Given the description of an element on the screen output the (x, y) to click on. 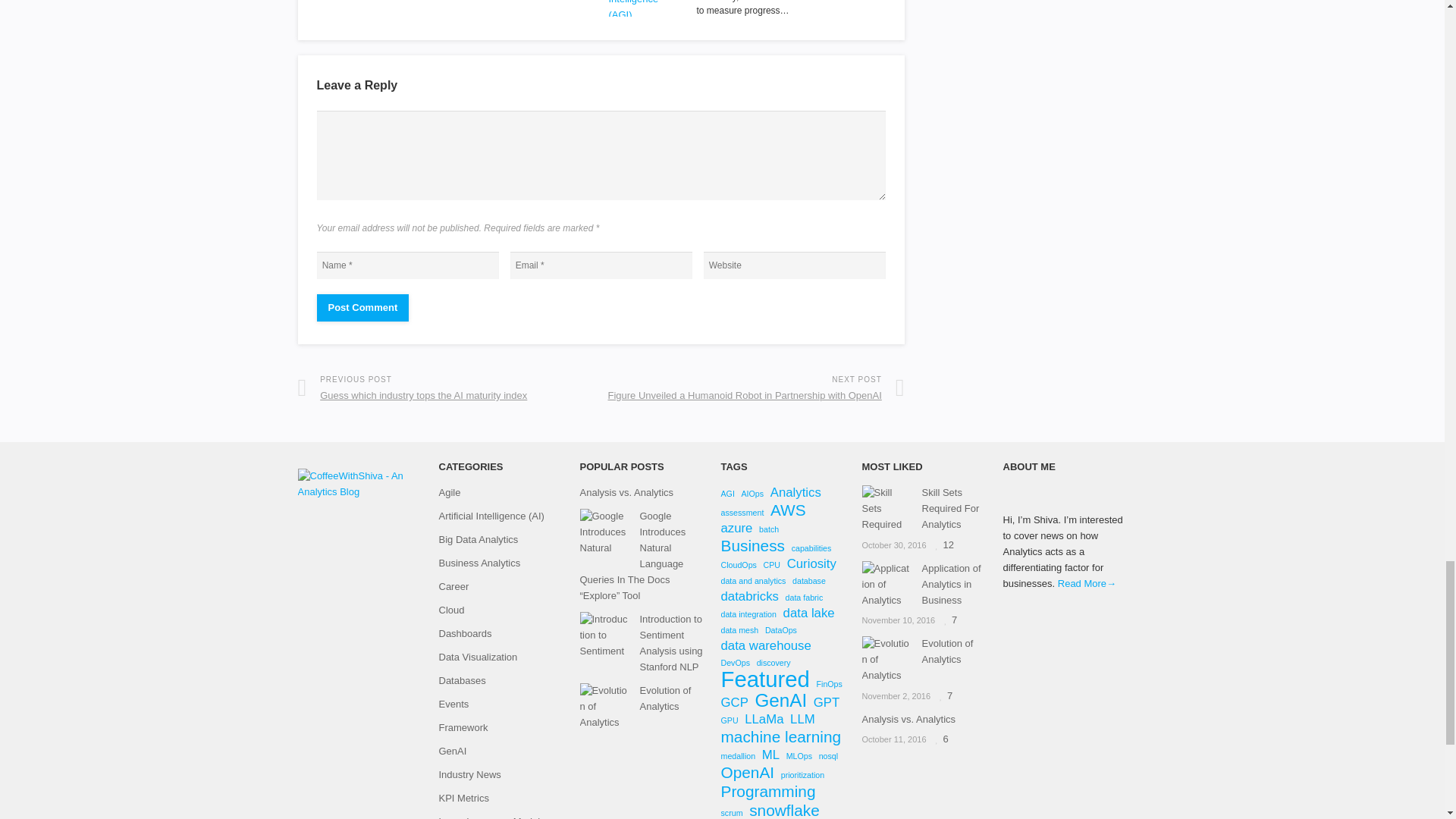
Like this (949, 619)
Post Comment (363, 307)
Like this (944, 544)
Like this (945, 695)
